Given the description of an element on the screen output the (x, y) to click on. 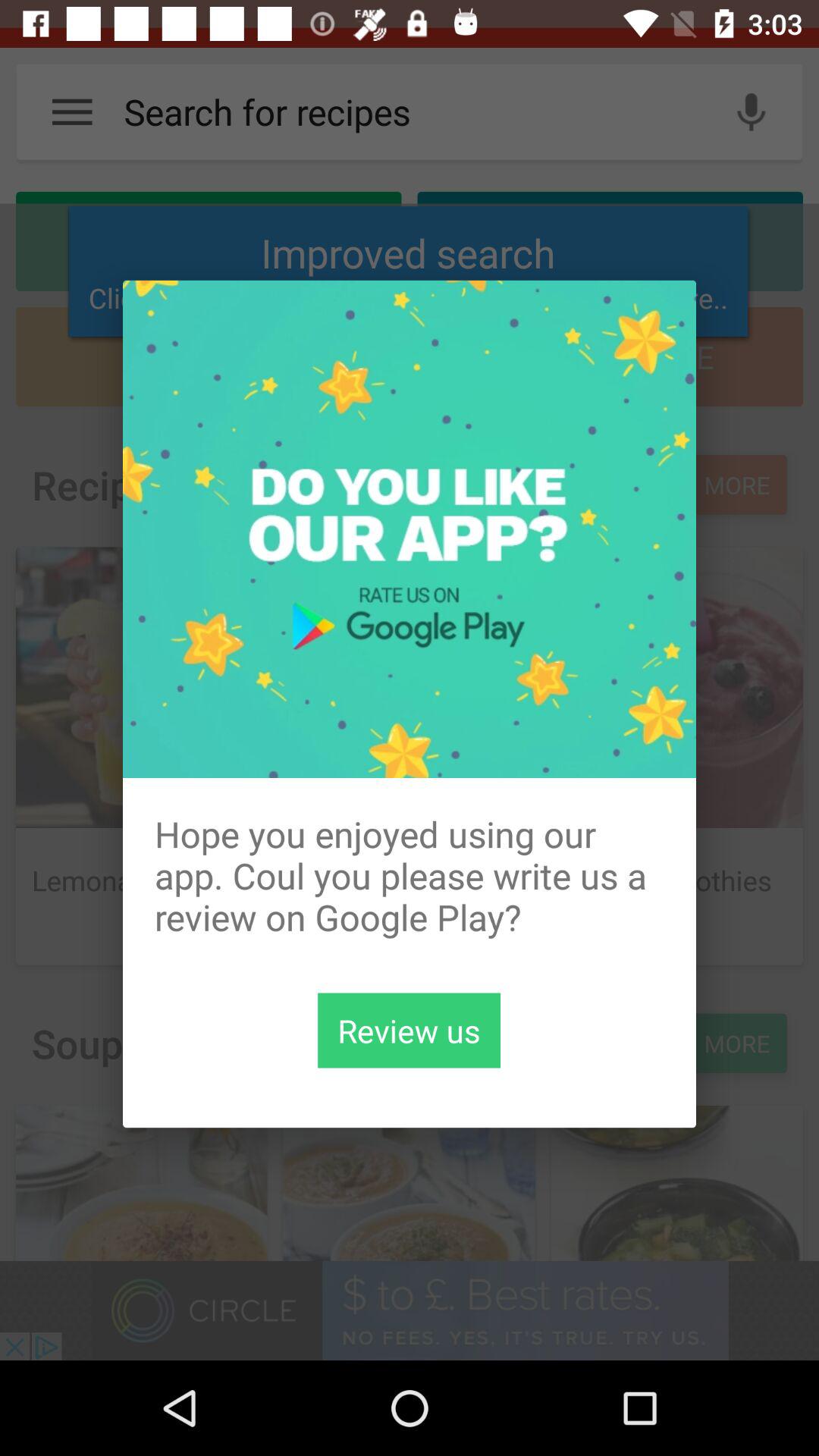
go to the google play page of the app (408, 1030)
